Given the description of an element on the screen output the (x, y) to click on. 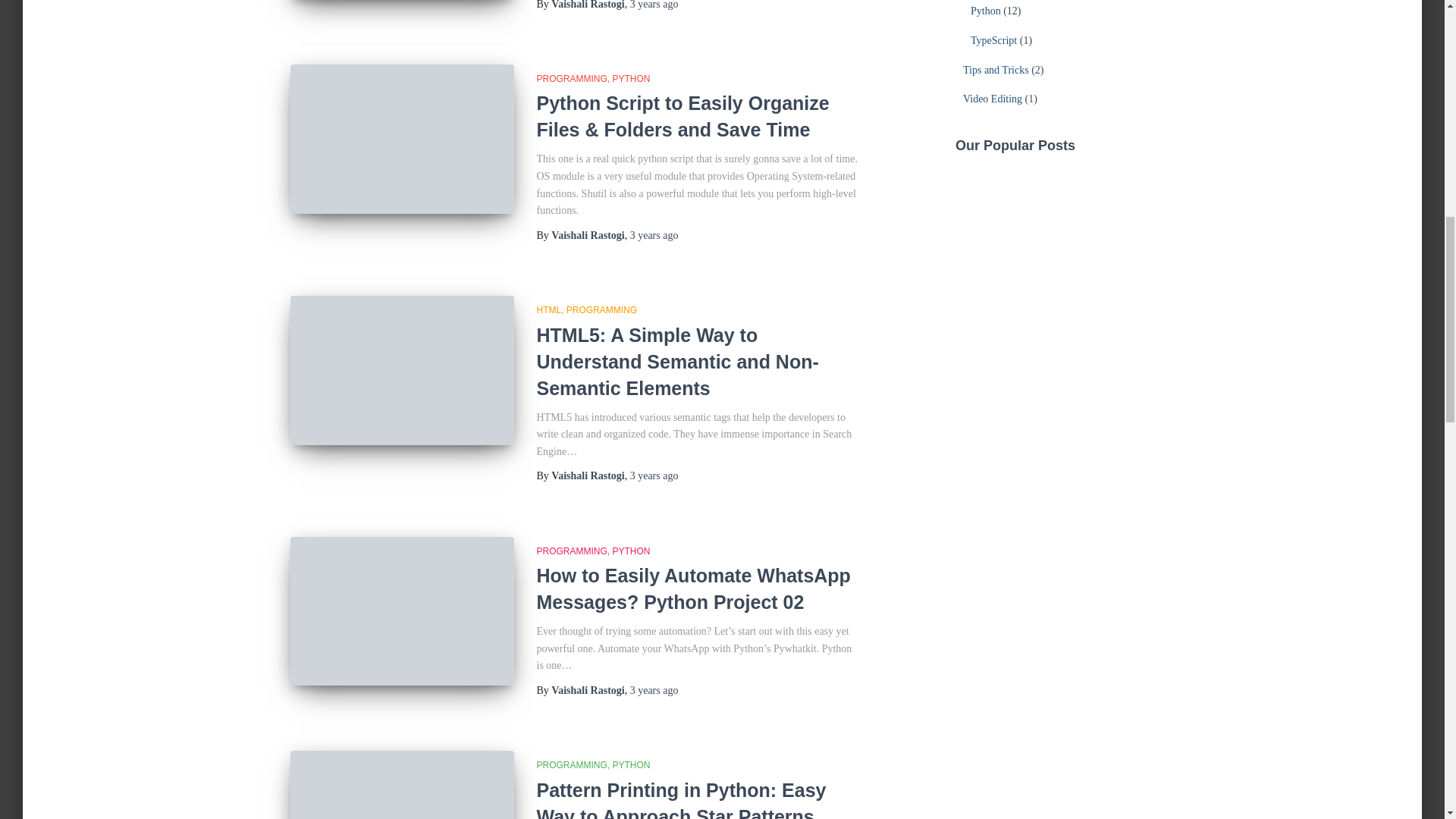
Vaishali Rastogi (587, 235)
PROGRAMMING (574, 551)
PYTHON (631, 78)
3 years ago (654, 235)
HTML (551, 309)
Vaishali Rastogi (587, 475)
Vaishali Rastogi (587, 4)
PROGRAMMING (574, 78)
3 years ago (654, 475)
